Given the description of an element on the screen output the (x, y) to click on. 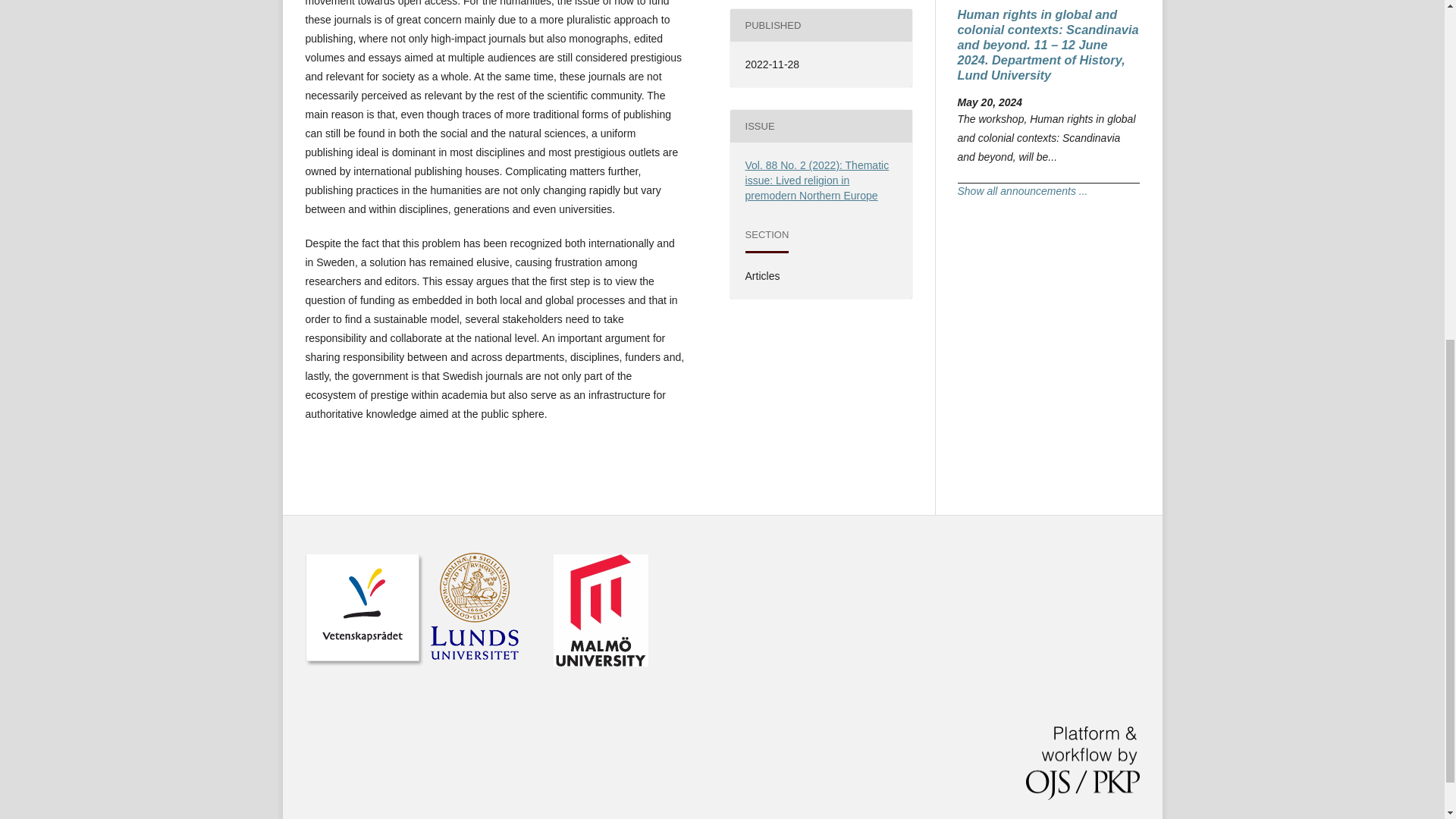
Show all announcements ... (1021, 191)
